Given the description of an element on the screen output the (x, y) to click on. 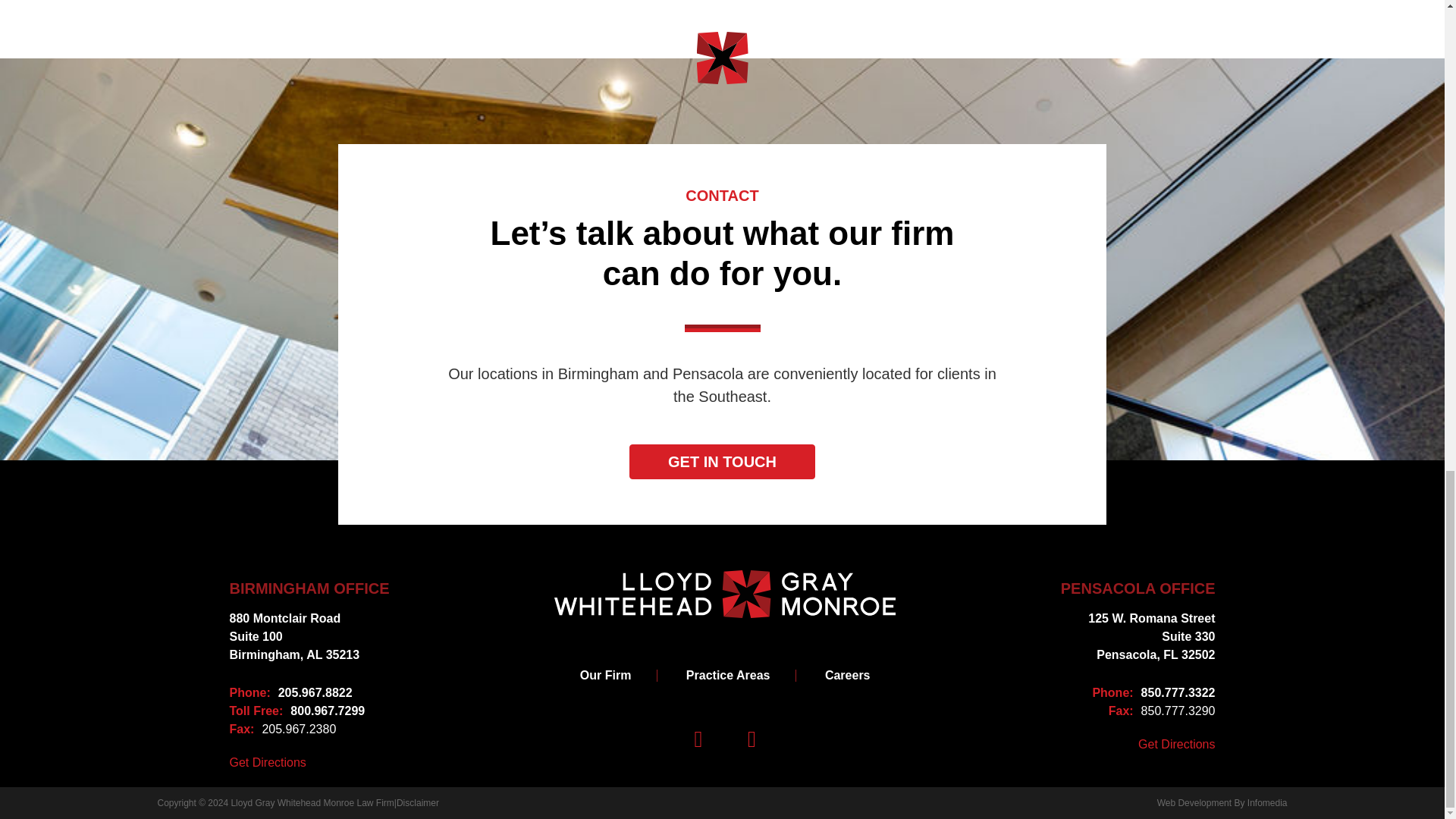
Infomedia (1267, 802)
Our Firm (606, 675)
Lloyd Gray Whitehead Monroe Law Firm (311, 802)
205.967.8822 (308, 692)
Careers (847, 675)
Get Directions (266, 762)
Get Directions (1176, 744)
800.967.7299 (308, 636)
Practice Areas (308, 710)
